Given the description of an element on the screen output the (x, y) to click on. 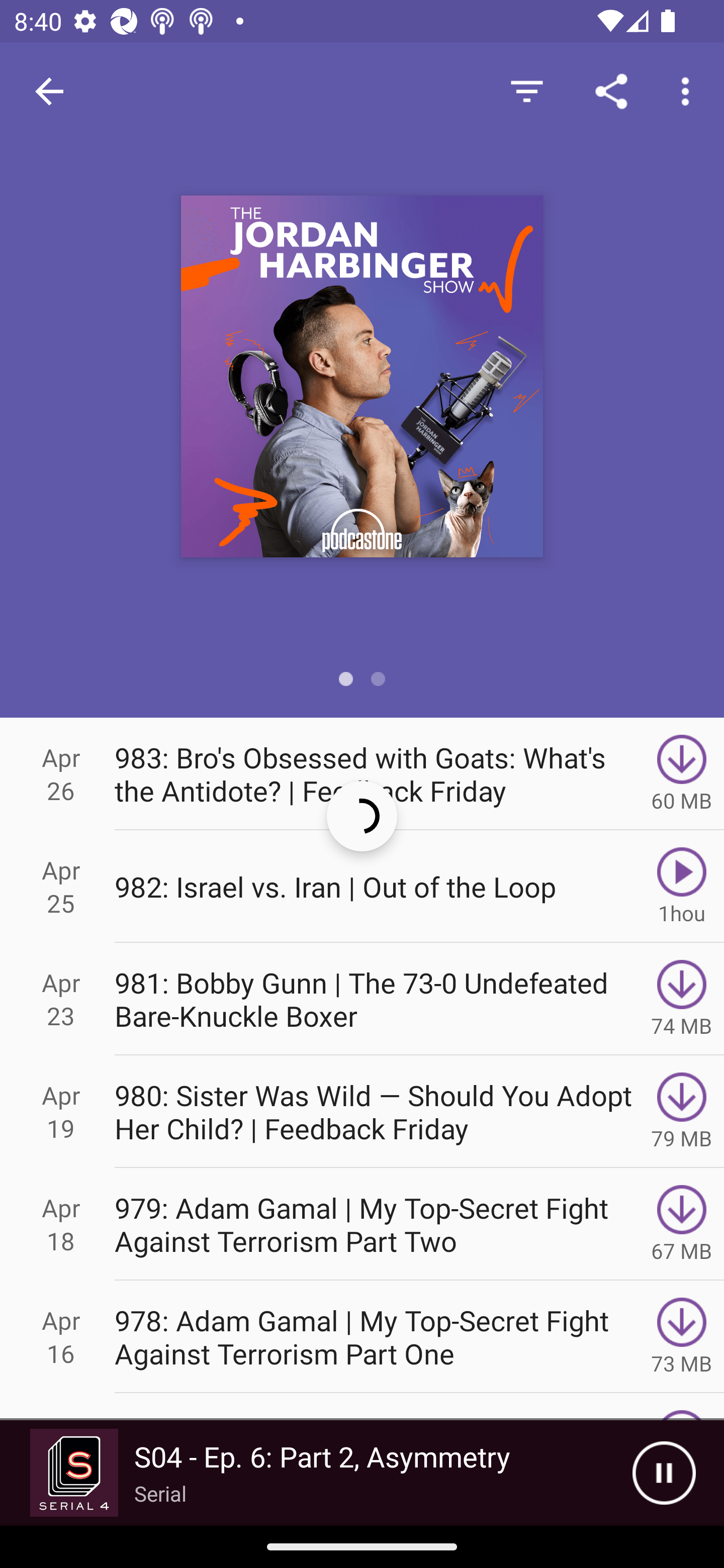
Navigate up (49, 91)
Hide Episodes (526, 90)
Share Link (611, 90)
More options (688, 90)
Download 60 MB (681, 773)
Play 1hou (681, 885)
Download 74 MB (681, 998)
Download 79 MB (681, 1111)
Download 67 MB (681, 1224)
Download 73 MB (681, 1336)
Picture S04 - Ep. 6: Part 2, Asymmetry Serial (316, 1472)
Pause (663, 1472)
